Given the description of an element on the screen output the (x, y) to click on. 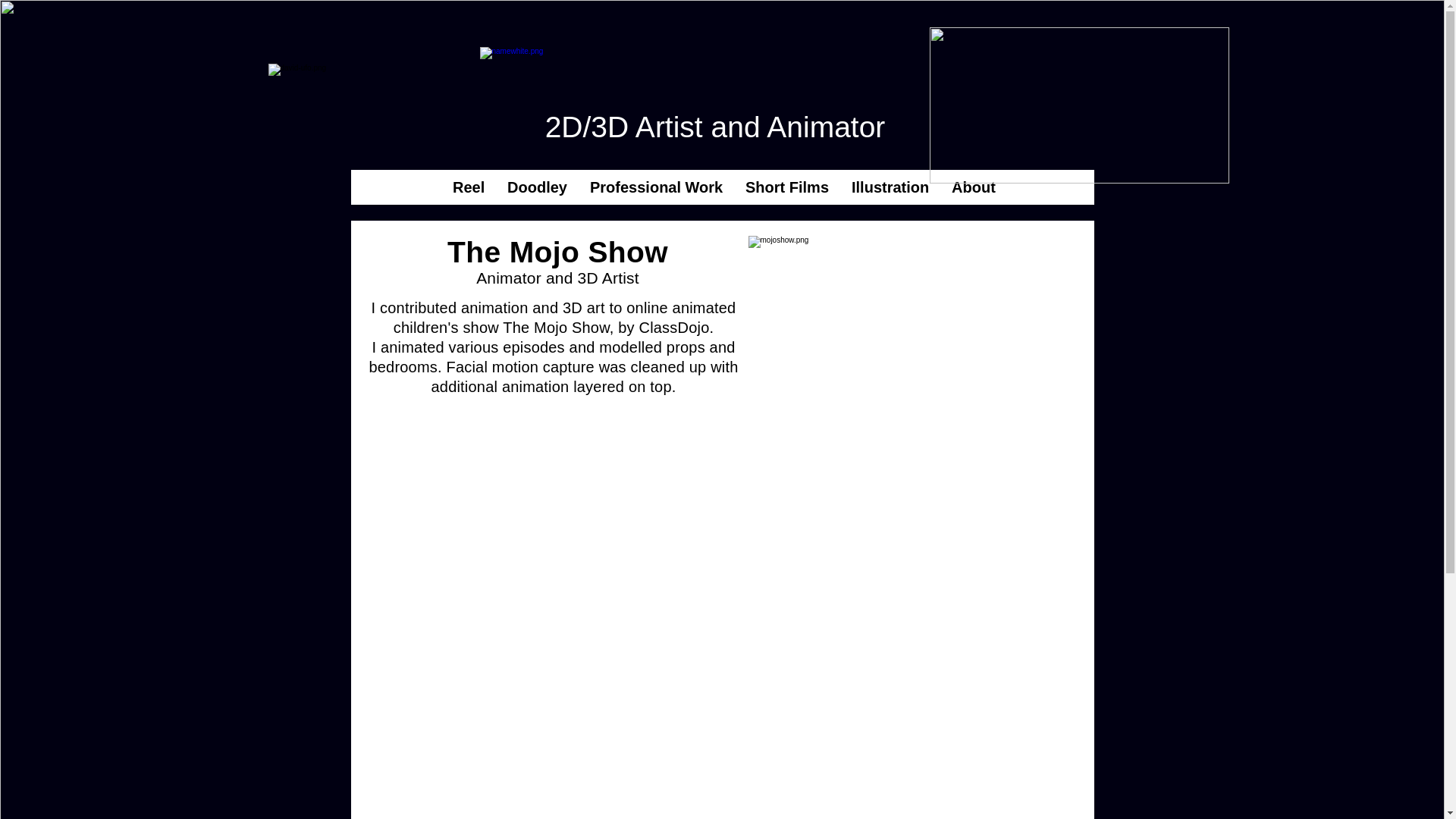
Doodley (537, 187)
Reel (468, 187)
saturn.png (1079, 105)
Illustration (890, 187)
Short Films (786, 187)
About (973, 187)
